Given the description of an element on the screen output the (x, y) to click on. 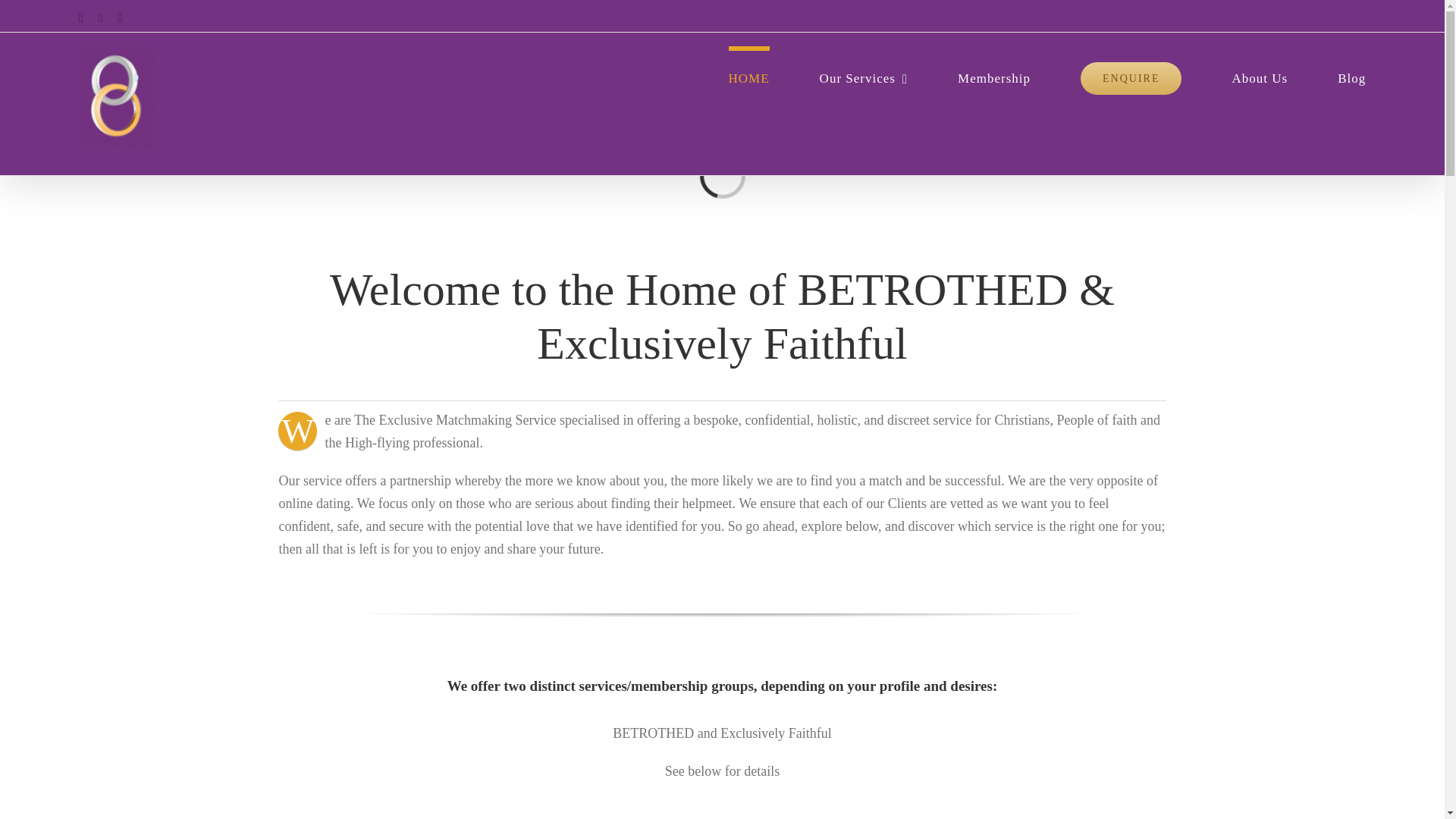
ENQUIRE (1130, 75)
About Us (1259, 75)
Our Services (863, 75)
Membership (994, 75)
